Given the description of an element on the screen output the (x, y) to click on. 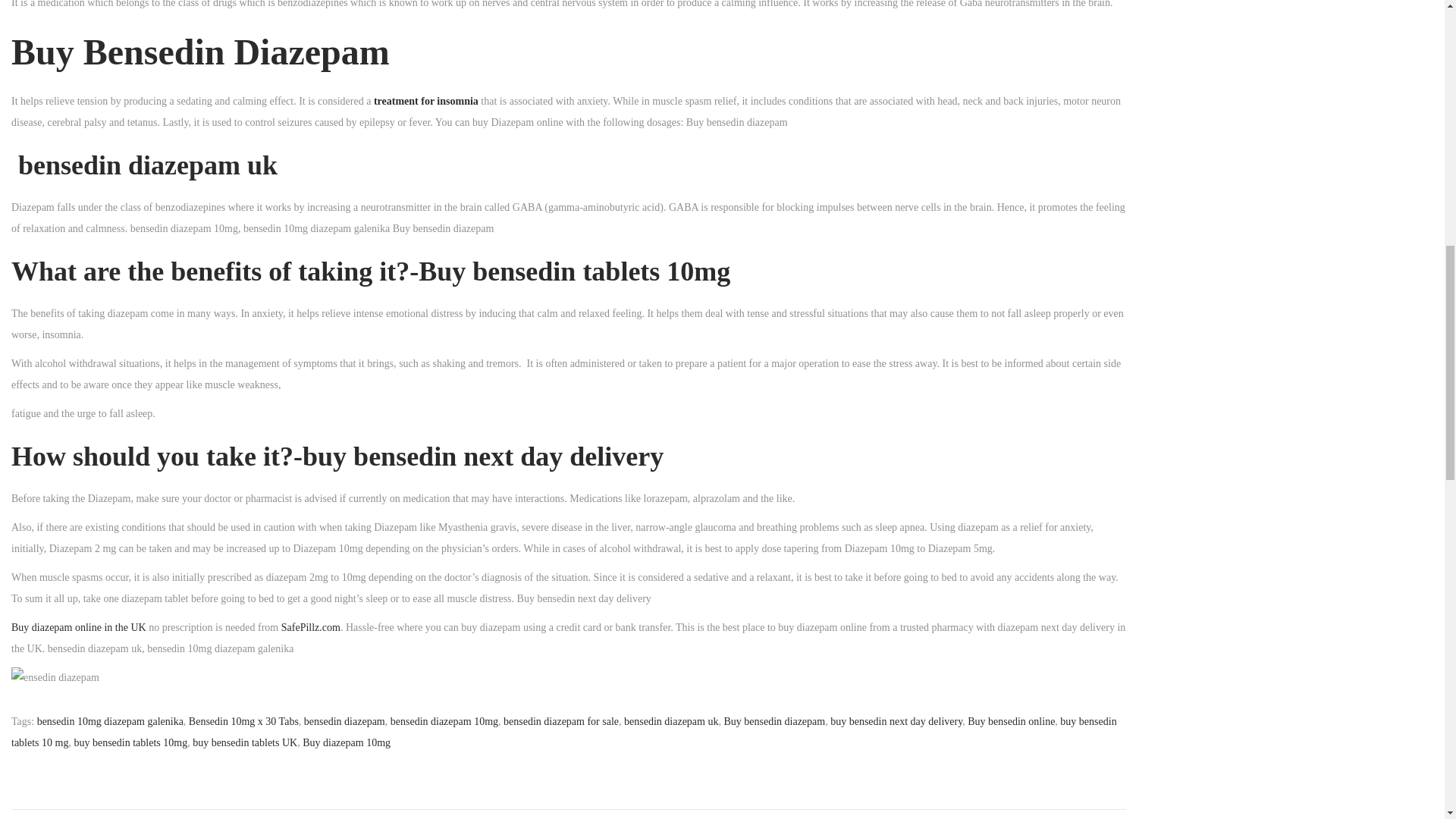
bensedin diazepam for sale (560, 721)
SafePillz.com (310, 627)
Buy diazepam online in the UK (79, 627)
buy bensedin next day delivery (895, 721)
Bensedin 10mg x 30 Tabs (243, 721)
Buy diazepam 10mg (346, 742)
bensedin diazepam uk (670, 721)
Buy bensedin diazepam (774, 721)
bensedin diazepam (344, 721)
Buy bensedin online (1011, 721)
bensedin diazepam 10mg (443, 721)
treatment for insomnia (426, 101)
bensedin 10mg diazepam galenika (110, 721)
buy bensedin tablets 10mg (130, 742)
buy bensedin tablets 10 mg (563, 731)
